Given the description of an element on the screen output the (x, y) to click on. 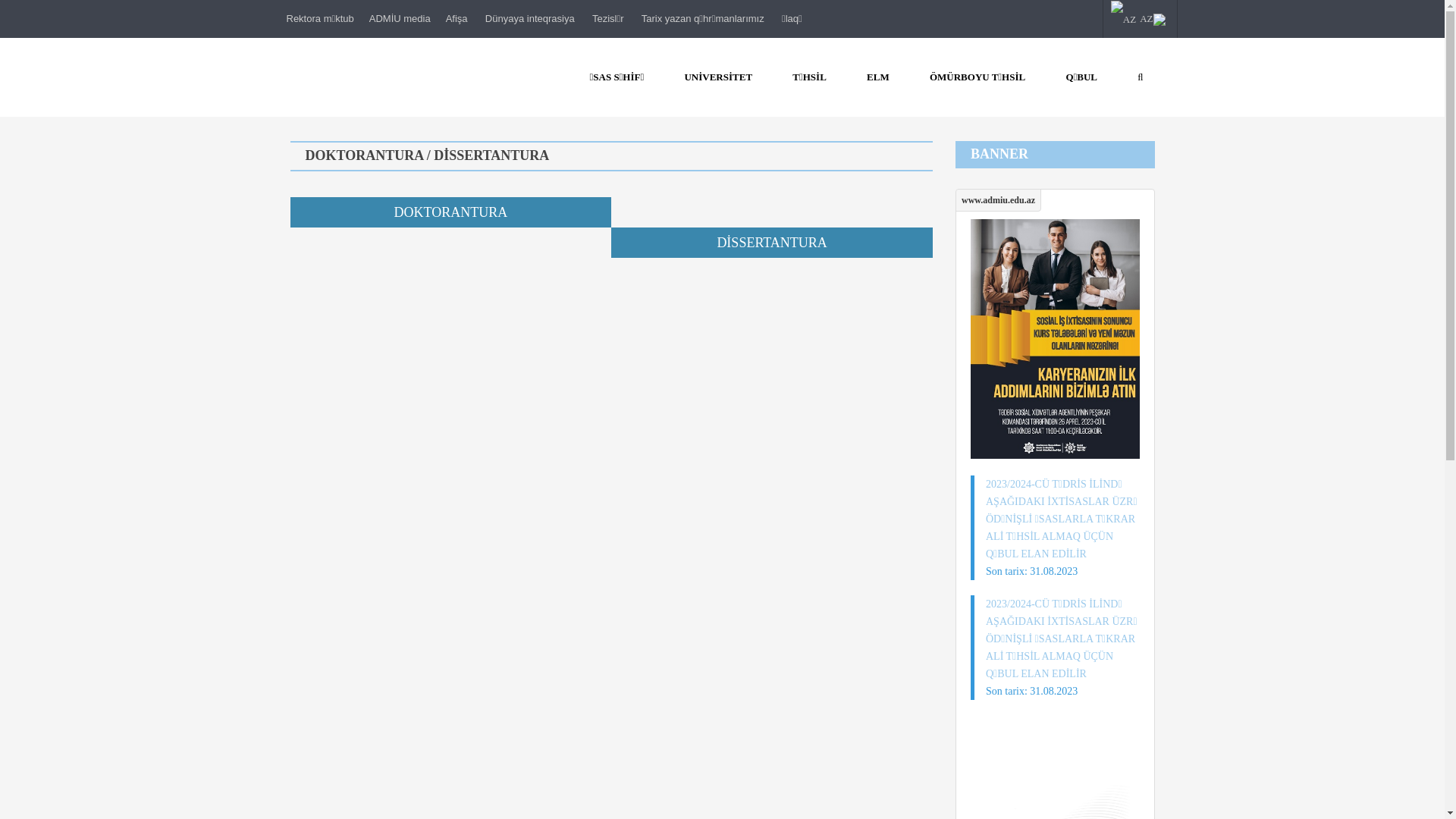
AXTAR Element type: hover (1141, 76)
AZ Element type: hover (1122, 19)
AZ Element type: text (1139, 18)
DOKTORANTURA Element type: text (450, 211)
ELM Element type: text (877, 76)
